Given the description of an element on the screen output the (x, y) to click on. 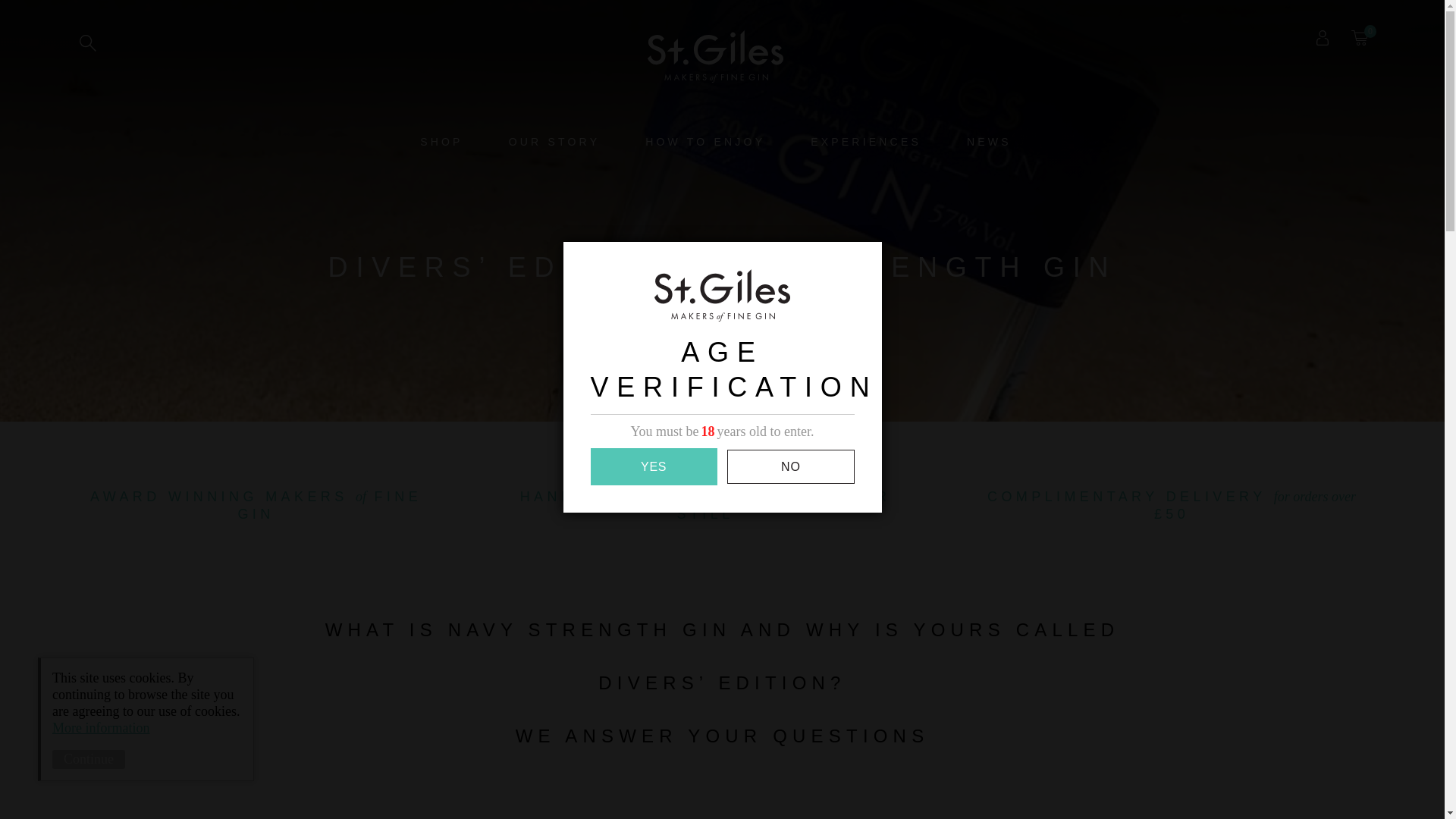
NO (789, 466)
SHOP (440, 141)
Continue (88, 759)
St Giles Gin (715, 56)
OUR STORY (554, 141)
0 (1359, 37)
More information (100, 727)
HOW TO ENJOY (705, 141)
NEWS (988, 141)
YES (652, 466)
EXPERIENCES (865, 141)
